Given the description of an element on the screen output the (x, y) to click on. 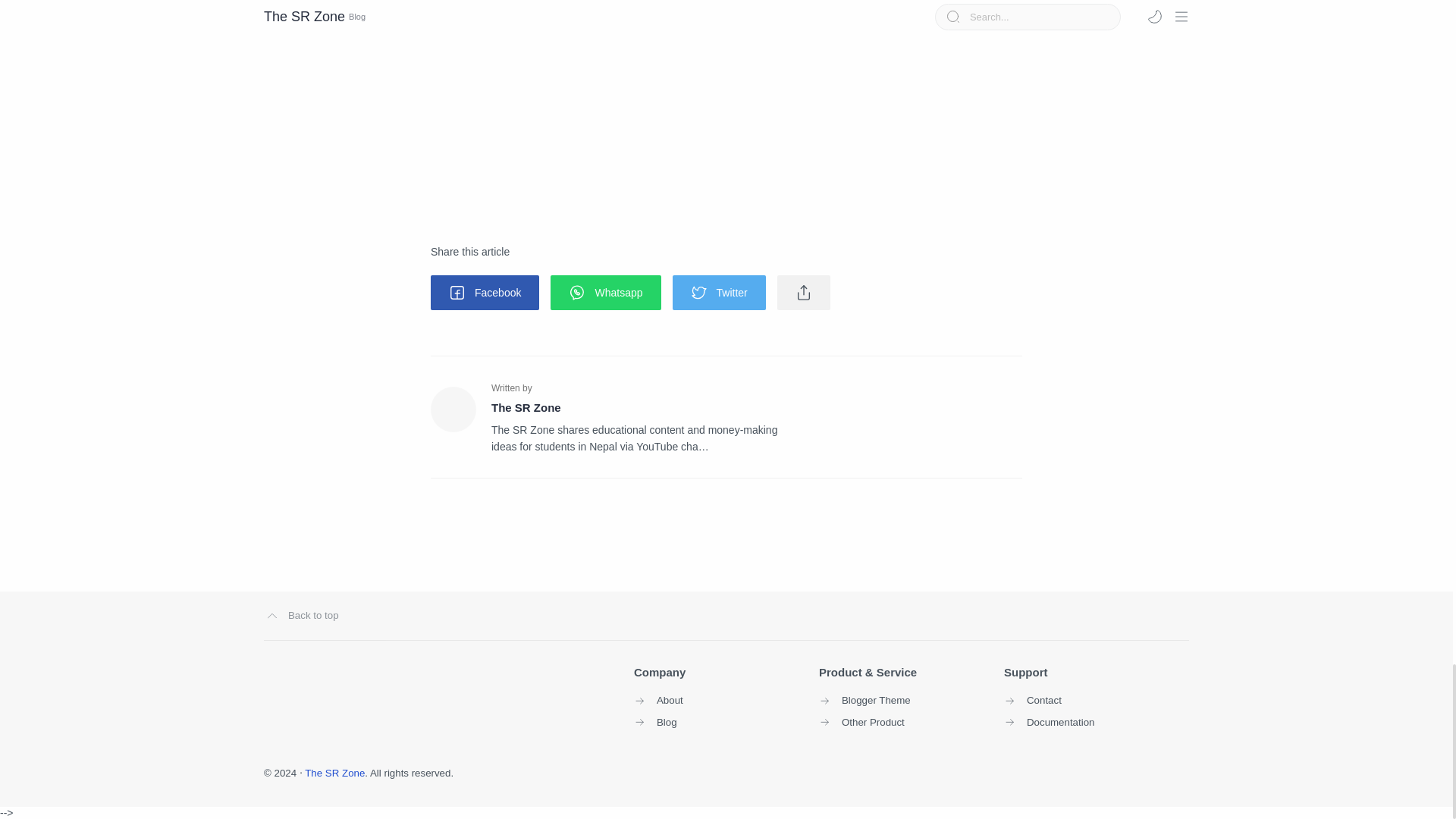
Share to Whatsapp (605, 292)
Share to Facebook (484, 292)
Share to Twitter (718, 292)
YouTube video player (643, 95)
